Given the description of an element on the screen output the (x, y) to click on. 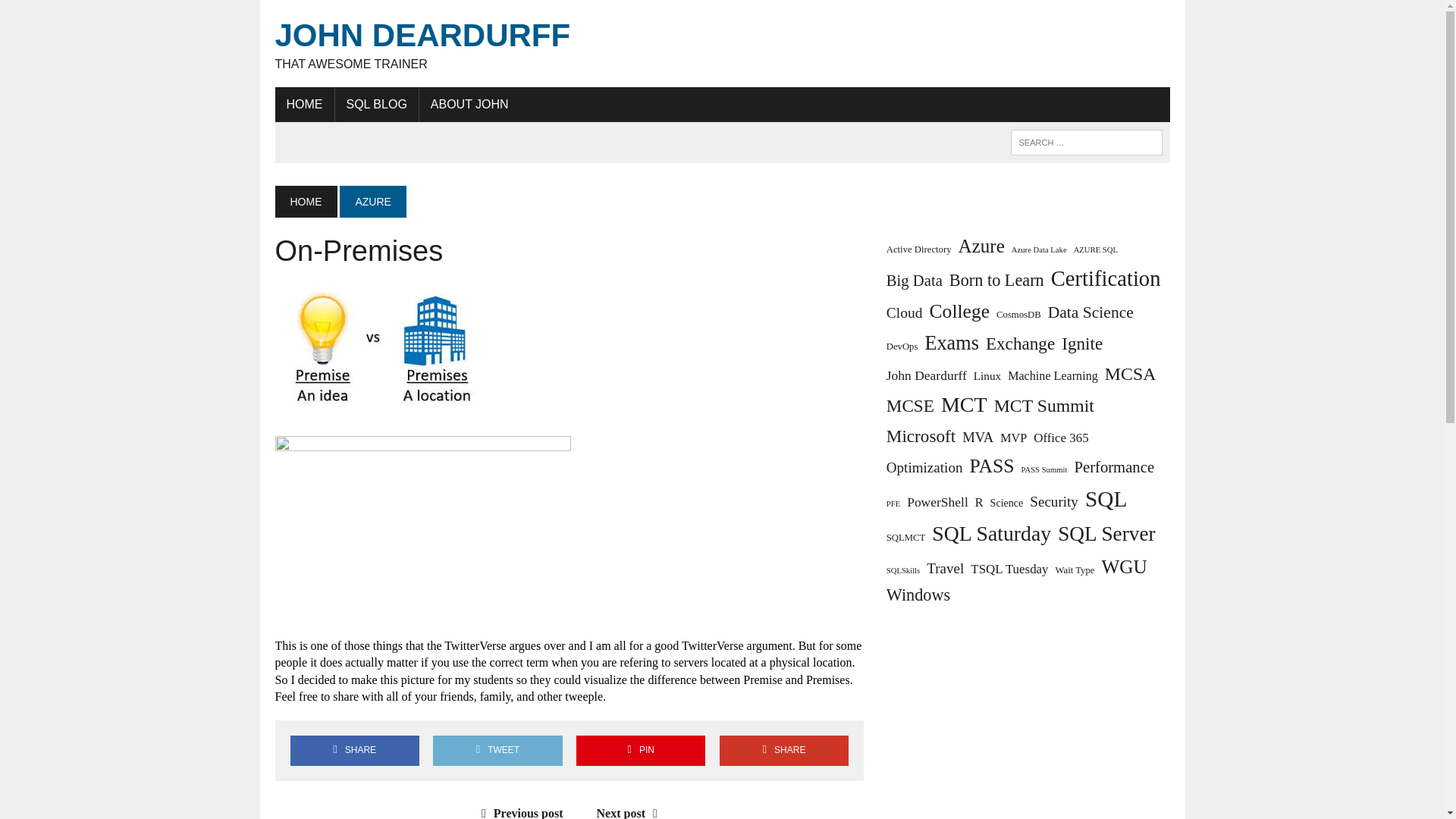
Certification (722, 43)
SHARE (1105, 278)
Search (783, 749)
Next post (75, 14)
Born to Learn (630, 812)
AZURE SQL (996, 280)
Active Directory (1096, 249)
Data Science (919, 249)
College (1091, 312)
AZURE (960, 311)
Cloud (372, 201)
HOME (904, 312)
SQL BLOG (304, 104)
SHARE (376, 104)
